Given the description of an element on the screen output the (x, y) to click on. 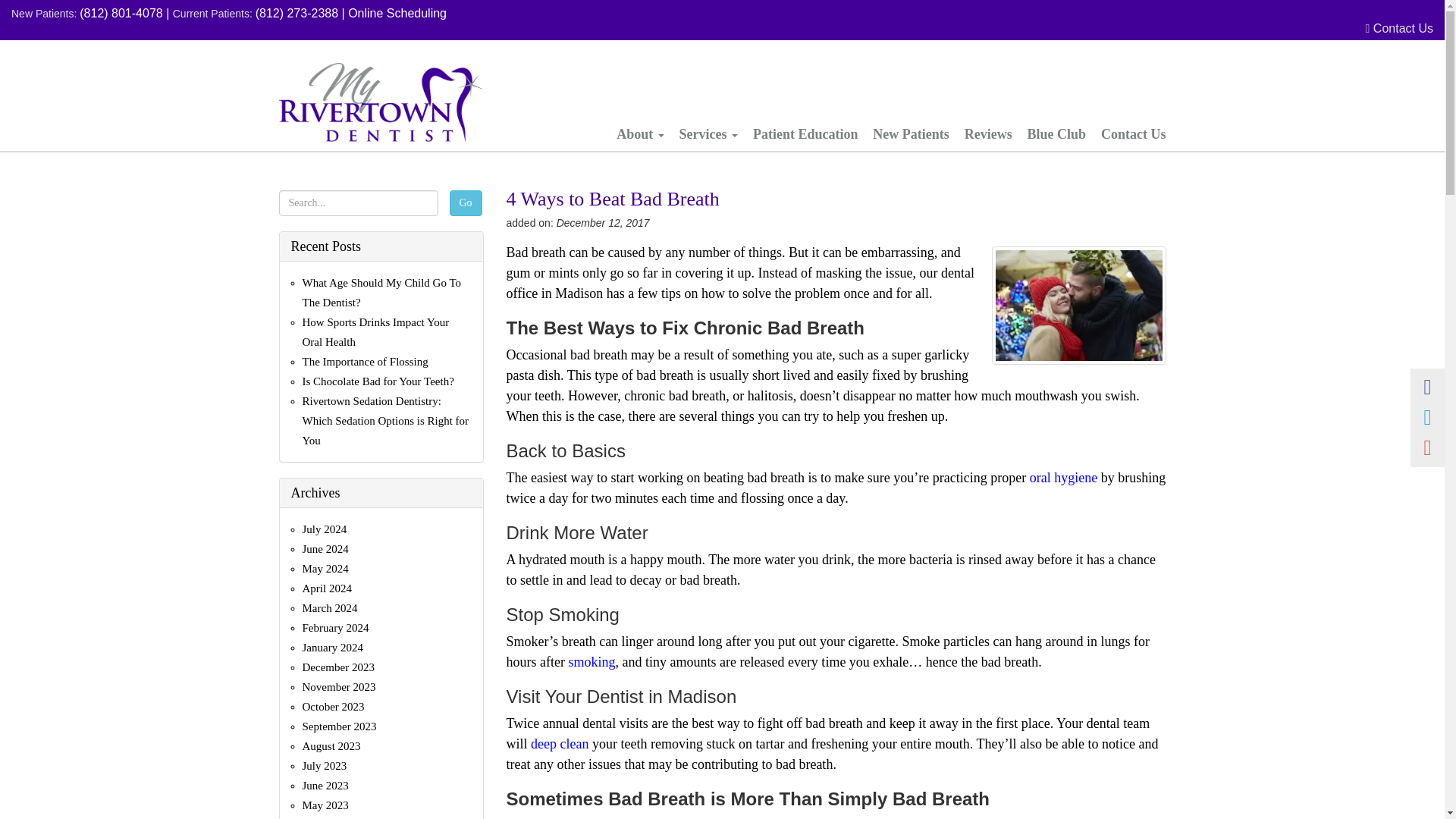
Patient Education (805, 129)
Online Scheduling (396, 12)
Services (708, 129)
About (639, 129)
Contact Us (1130, 129)
Blue Club (1057, 129)
deep clean (559, 743)
New Patients (910, 129)
My Rivertown Dentist (381, 102)
smoking (590, 661)
